Given the description of an element on the screen output the (x, y) to click on. 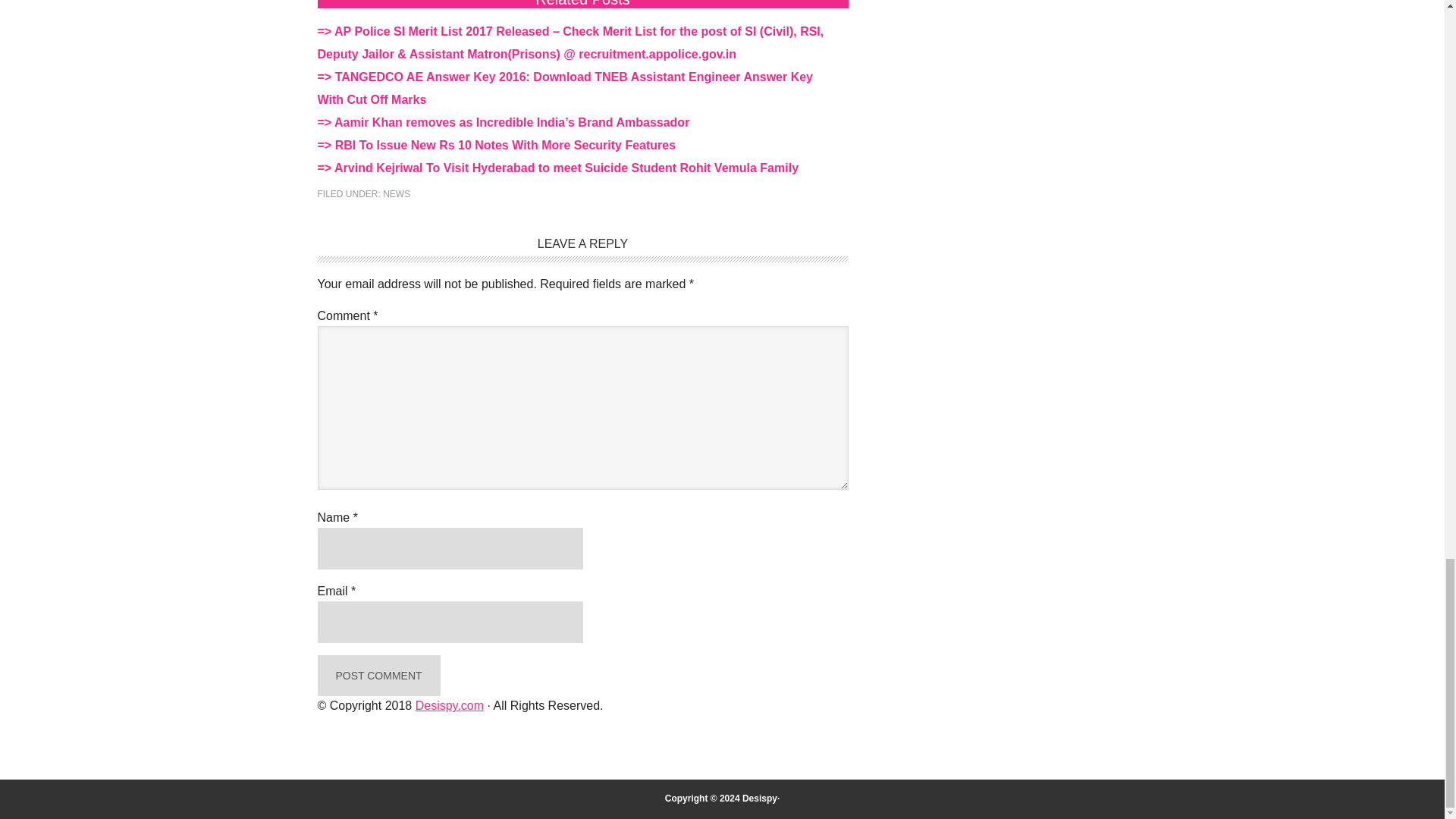
Desispy.com (448, 705)
RBI To Issue New Rs 10 Notes With More Security Features (504, 144)
Post Comment (378, 675)
NEWS (396, 194)
Post Comment (378, 675)
